Given the description of an element on the screen output the (x, y) to click on. 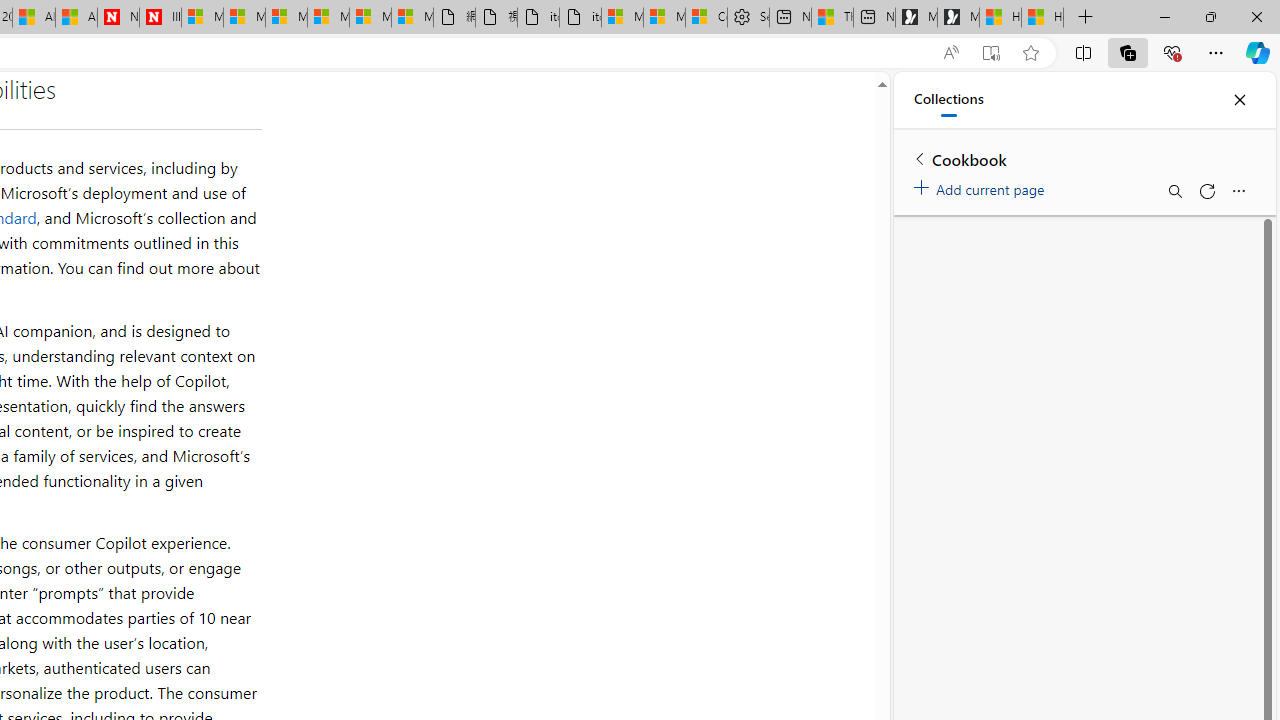
itconcepthk.com/projector_solutions.mp4 (580, 17)
Back to list of collections (920, 158)
More options menu (1238, 190)
Consumer Health Data Privacy Policy (706, 17)
